Given the description of an element on the screen output the (x, y) to click on. 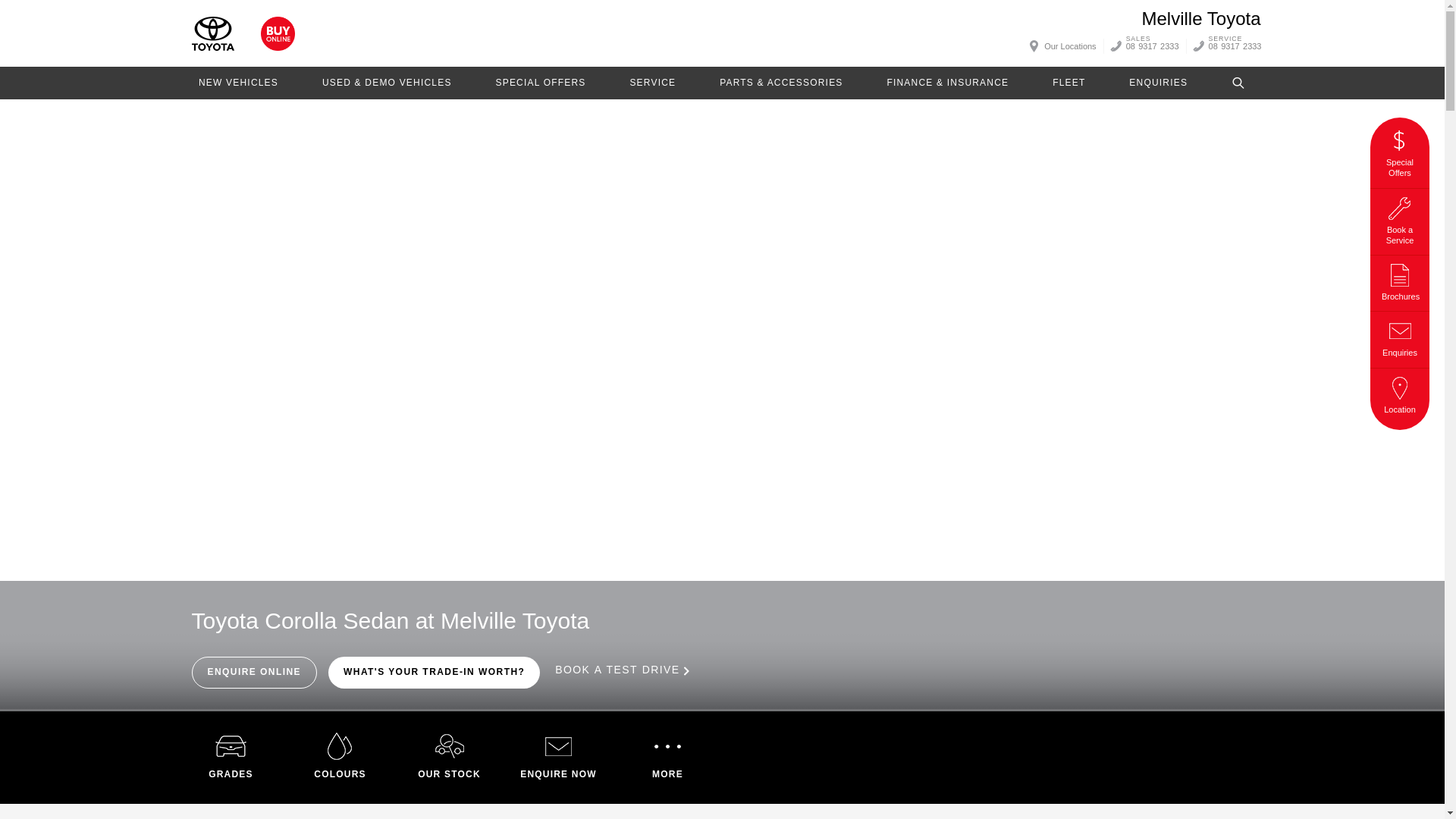
Brochures (1399, 280)
Melville Toyota (1200, 18)
Location (1399, 393)
Melville Toyota (1200, 18)
Melville Toyota (211, 33)
NEW VEHICLES (237, 82)
Enquiries (1399, 336)
Buy Online (277, 33)
